Given the description of an element on the screen output the (x, y) to click on. 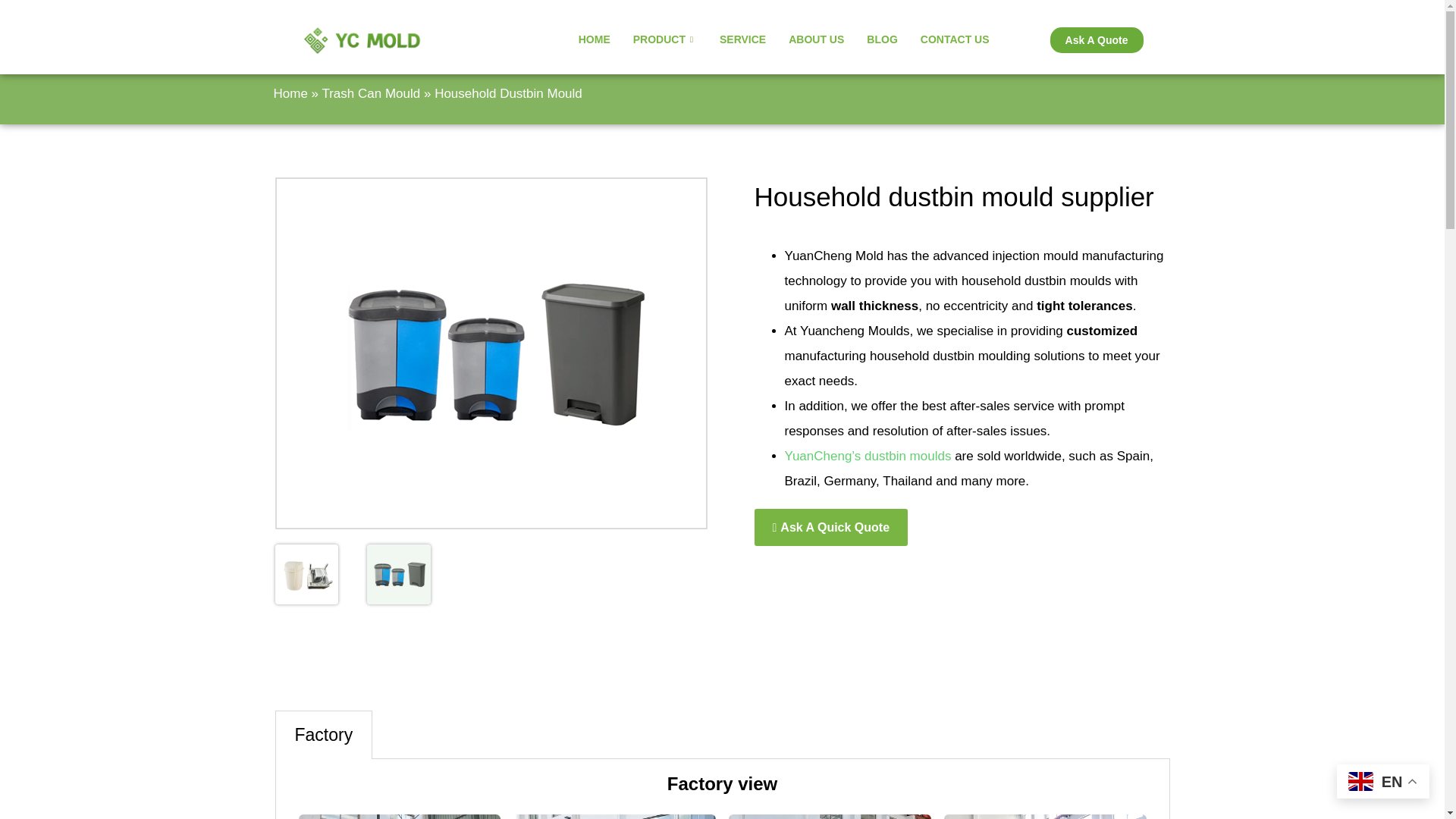
HOME (594, 39)
PRODUCT (664, 39)
CONTACT US (954, 39)
Ask A Quote (1095, 40)
ABOUT US (816, 39)
BLOG (882, 39)
Ask A Quick Quote (830, 527)
Trash Can Mould (370, 93)
Home (290, 93)
SERVICE (742, 39)
